Given the description of an element on the screen output the (x, y) to click on. 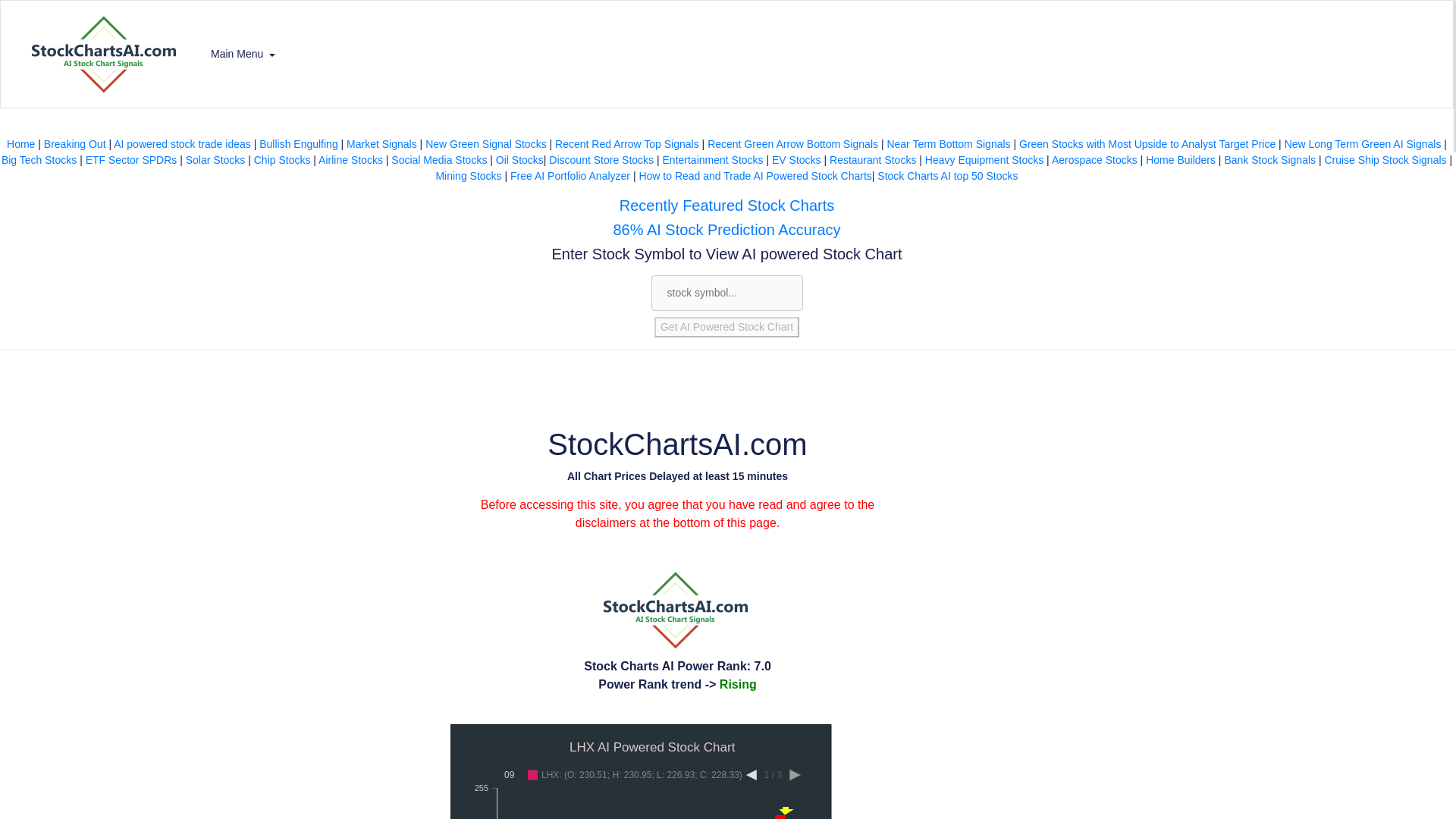
Restaurant Stocks (872, 159)
Oil Stocks (519, 159)
Green Stocks with Most Upside to Analyst Target Price (1147, 143)
Breaking Out (74, 143)
Airline Stocks (350, 159)
Recent Red Arrow Top Signals (626, 143)
Bullish Engulfing (298, 143)
Recently Featured Stock Charts (727, 205)
Free AI Portfolio Analyzer (570, 175)
Home Builders (1180, 159)
